Given the description of an element on the screen output the (x, y) to click on. 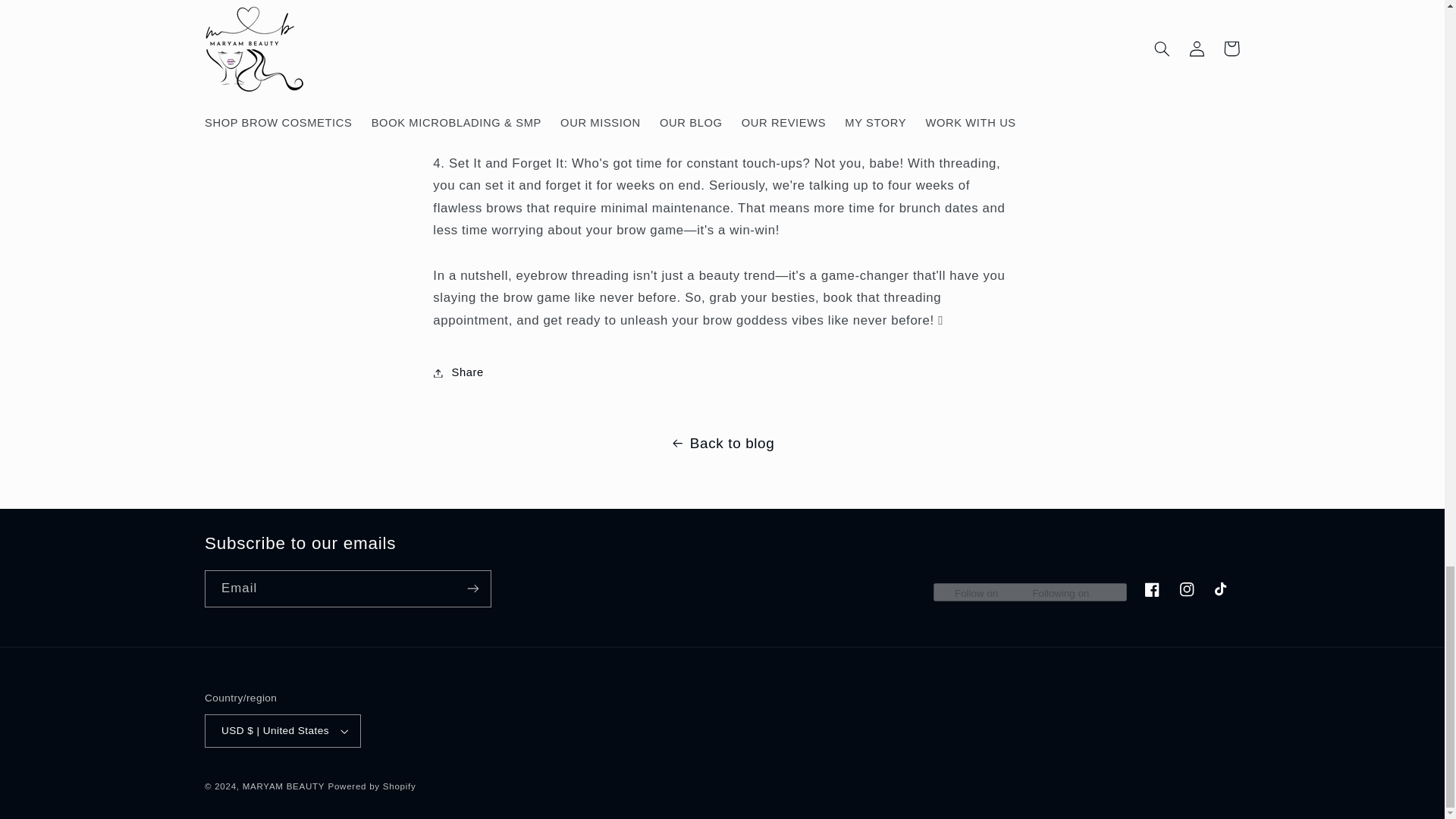
Facebook (1151, 589)
MARYAM BEAUTY (283, 786)
Instagram (1187, 589)
TikTok (1222, 589)
